Given the description of an element on the screen output the (x, y) to click on. 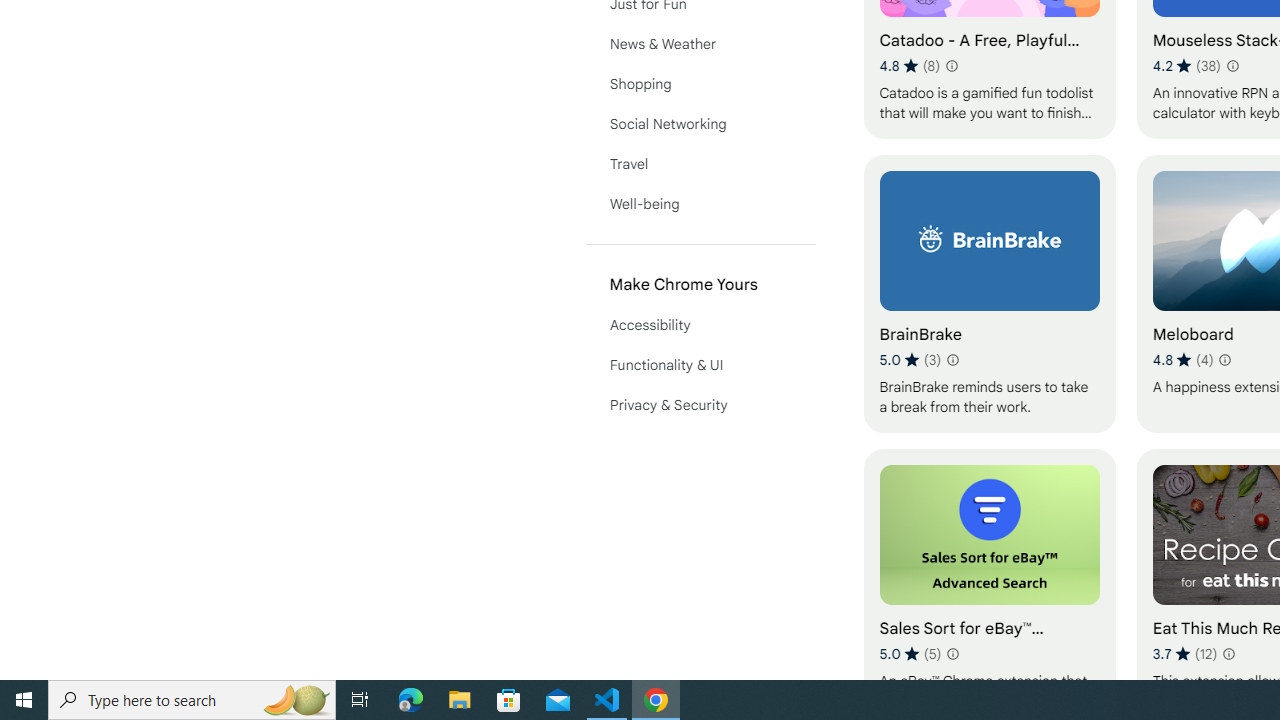
Travel (700, 164)
Privacy & Security (700, 404)
Well-being (700, 203)
Average rating 4.2 out of 5 stars. 38 ratings. (1187, 66)
Average rating 5 out of 5 stars. 5 ratings. (910, 653)
